Given the description of an element on the screen output the (x, y) to click on. 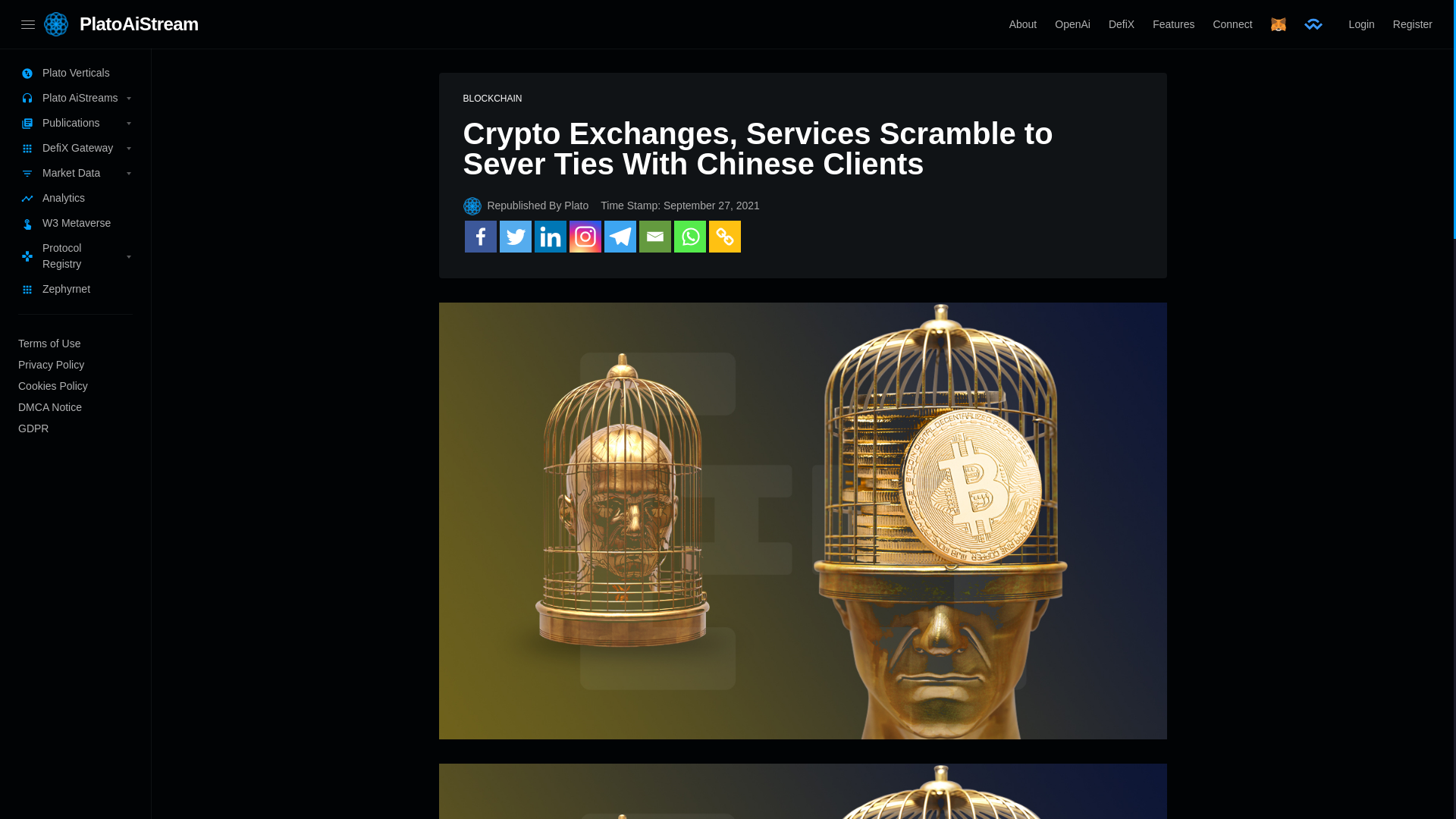
Plato AiStreams (75, 97)
Facebook (480, 236)
PlatoAiStream (139, 23)
DefiX (1120, 24)
Connect (1232, 24)
Linkedin (550, 236)
OpenAi (1072, 24)
Publications (75, 122)
Plato Verticals (75, 72)
Copy Link (723, 236)
Register (1412, 24)
Features (1173, 24)
Email (654, 236)
Login (1361, 24)
About (1023, 24)
